Given the description of an element on the screen output the (x, y) to click on. 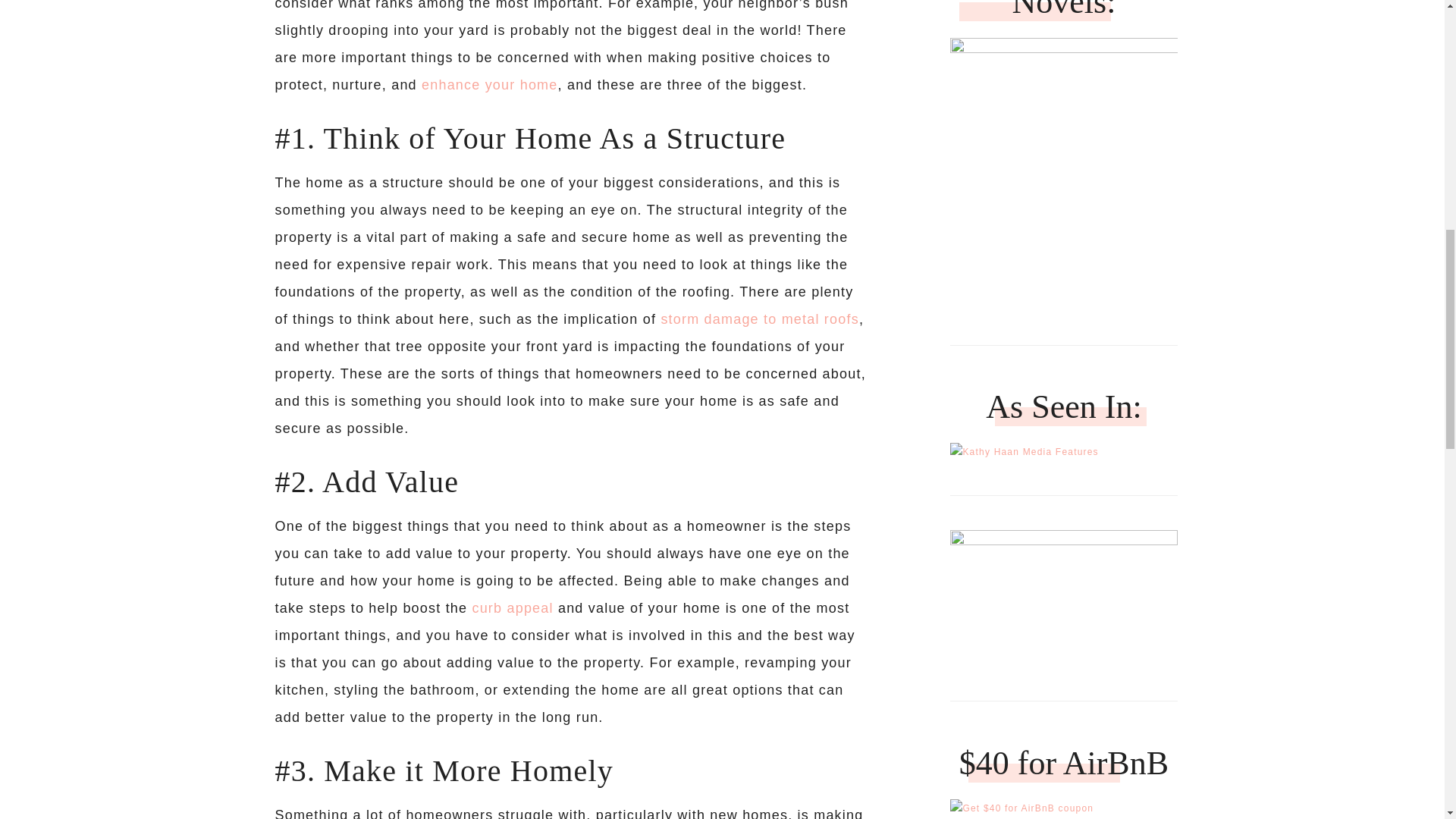
storm damage to metal roofs (760, 319)
As Seen In: (1023, 452)
curb appeal (512, 607)
enhance your home (489, 84)
